Given the description of an element on the screen output the (x, y) to click on. 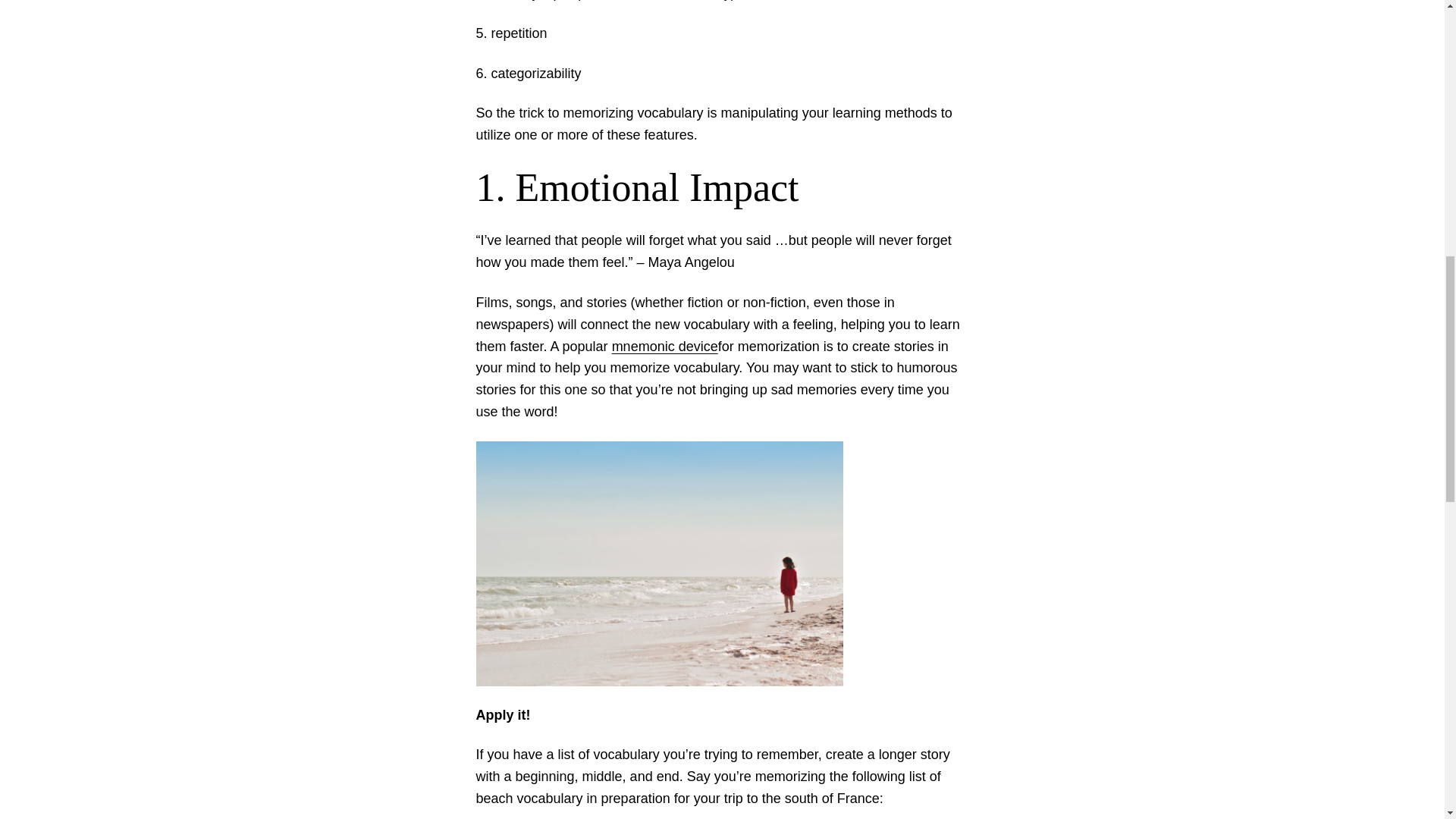
mnemonic device (664, 346)
